Given the description of an element on the screen output the (x, y) to click on. 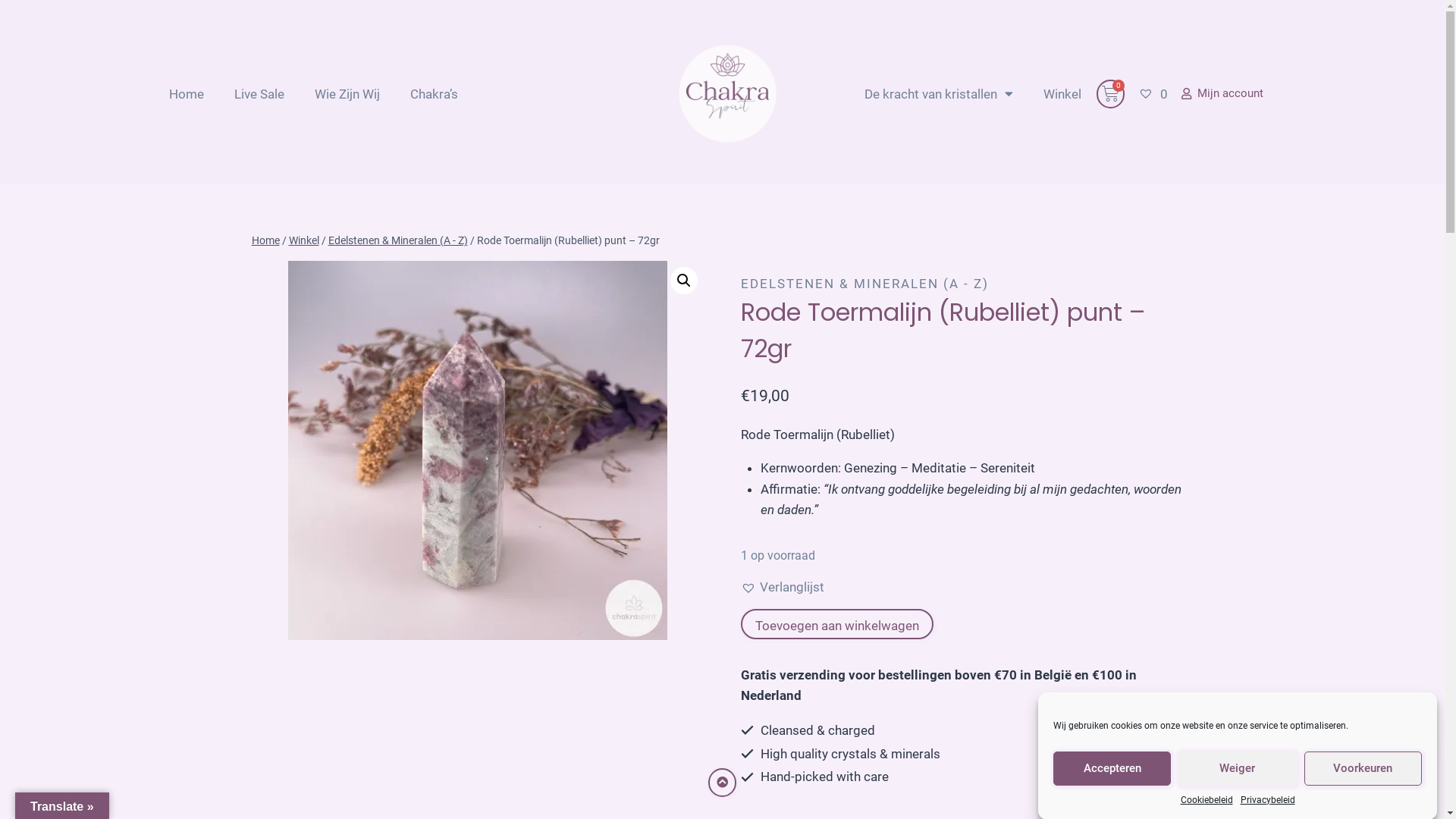
Winkel Element type: text (303, 240)
Wie Zijn Wij Element type: text (346, 92)
Live Sale Element type: text (258, 92)
EDELSTENEN & MINERALEN (A - Z) Element type: text (864, 283)
Home Element type: text (185, 92)
Edelstenen & Mineralen (A - Z) Element type: text (397, 240)
Verlanglijst Element type: text (782, 587)
Cookiebeleid Element type: text (1205, 800)
Privacybeleid Element type: text (1267, 800)
0 Element type: text (1152, 92)
Winkel Element type: text (1062, 92)
Voorkeuren Element type: text (1362, 768)
0 Element type: text (1110, 92)
Home Element type: text (265, 240)
Weiger Element type: text (1236, 768)
Toevoegen aan winkelwagen Element type: text (836, 623)
Accepteren Element type: text (1111, 768)
Mijn account Element type: text (1222, 93)
De kracht van kristallen Element type: text (938, 92)
